Given the description of an element on the screen output the (x, y) to click on. 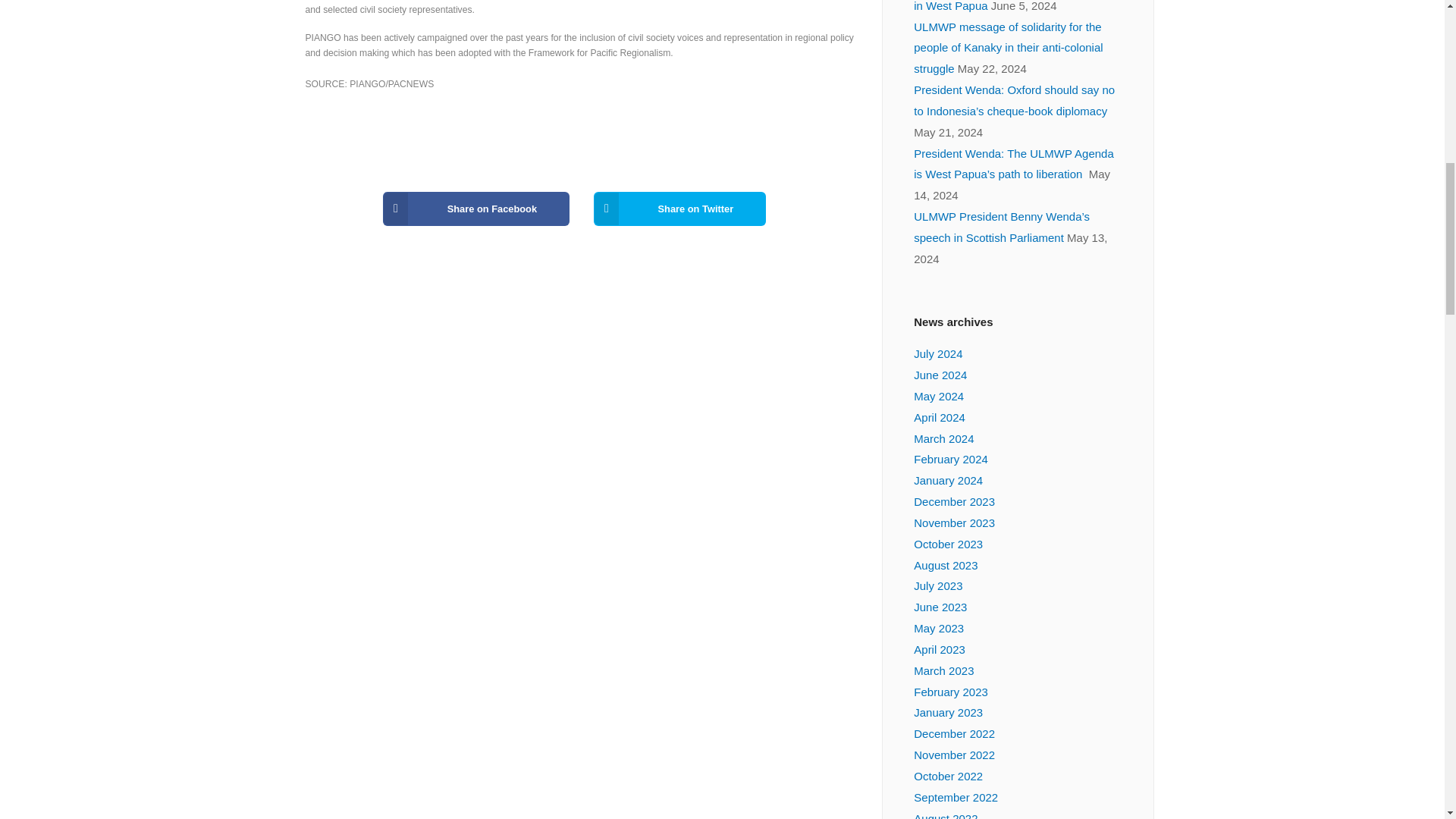
March 2024 (944, 438)
April 2024 (939, 417)
July 2023 (938, 585)
July 2024 (938, 353)
February 2024 (951, 459)
October 2023 (948, 543)
December 2023 (954, 501)
June 2023 (940, 606)
November 2023 (954, 522)
May 2023 (938, 627)
June 2024 (940, 374)
Share on Twitter (679, 208)
Share on Facebook (475, 208)
January 2024 (948, 480)
